Given the description of an element on the screen output the (x, y) to click on. 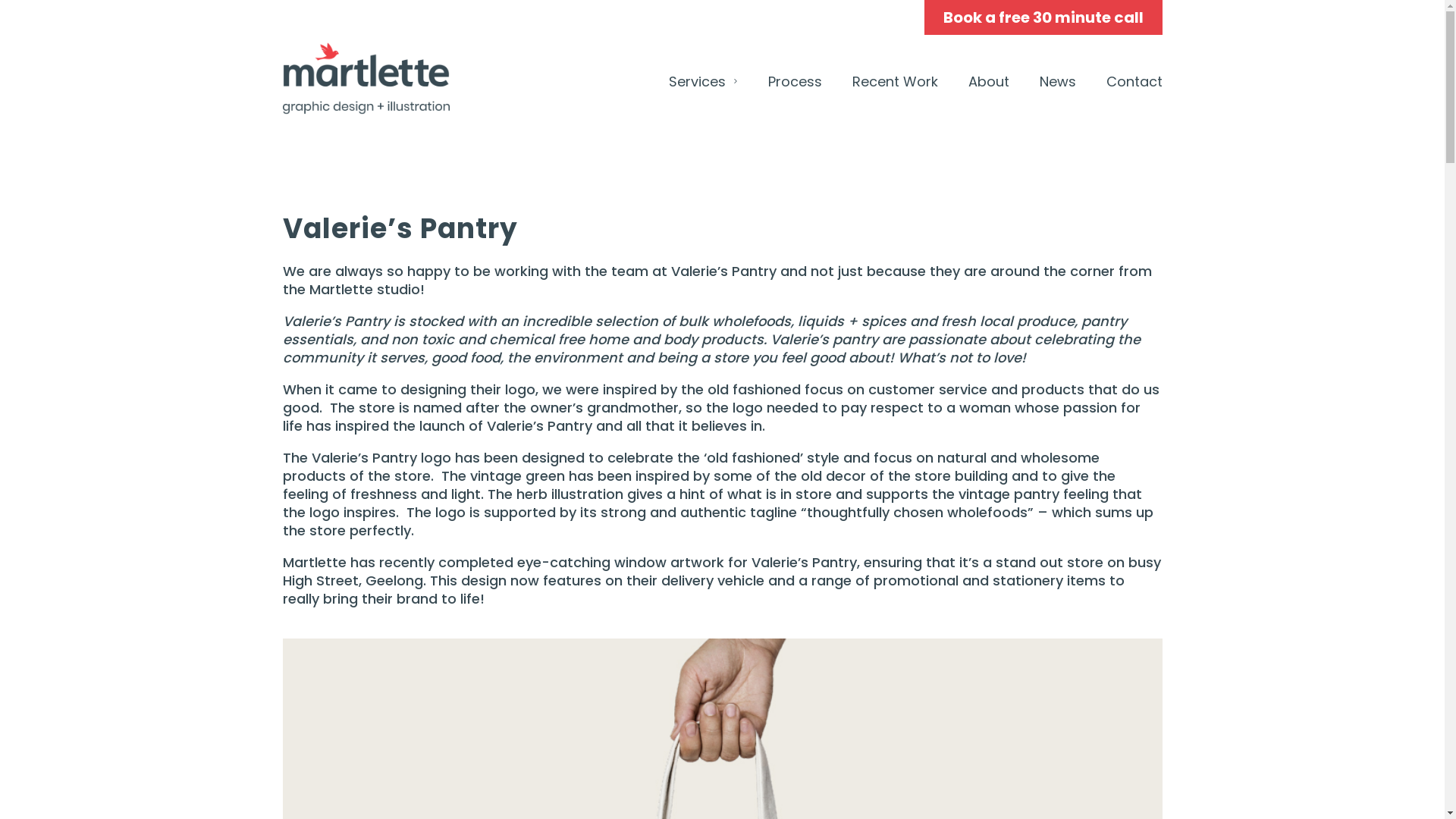
News Element type: text (1056, 81)
About Element type: text (987, 81)
Book a free 30 minute call Element type: text (1043, 17)
Recent Work Element type: text (895, 81)
Contact Element type: text (1125, 81)
Services Element type: text (703, 81)
Process Element type: text (794, 81)
